Given the description of an element on the screen output the (x, y) to click on. 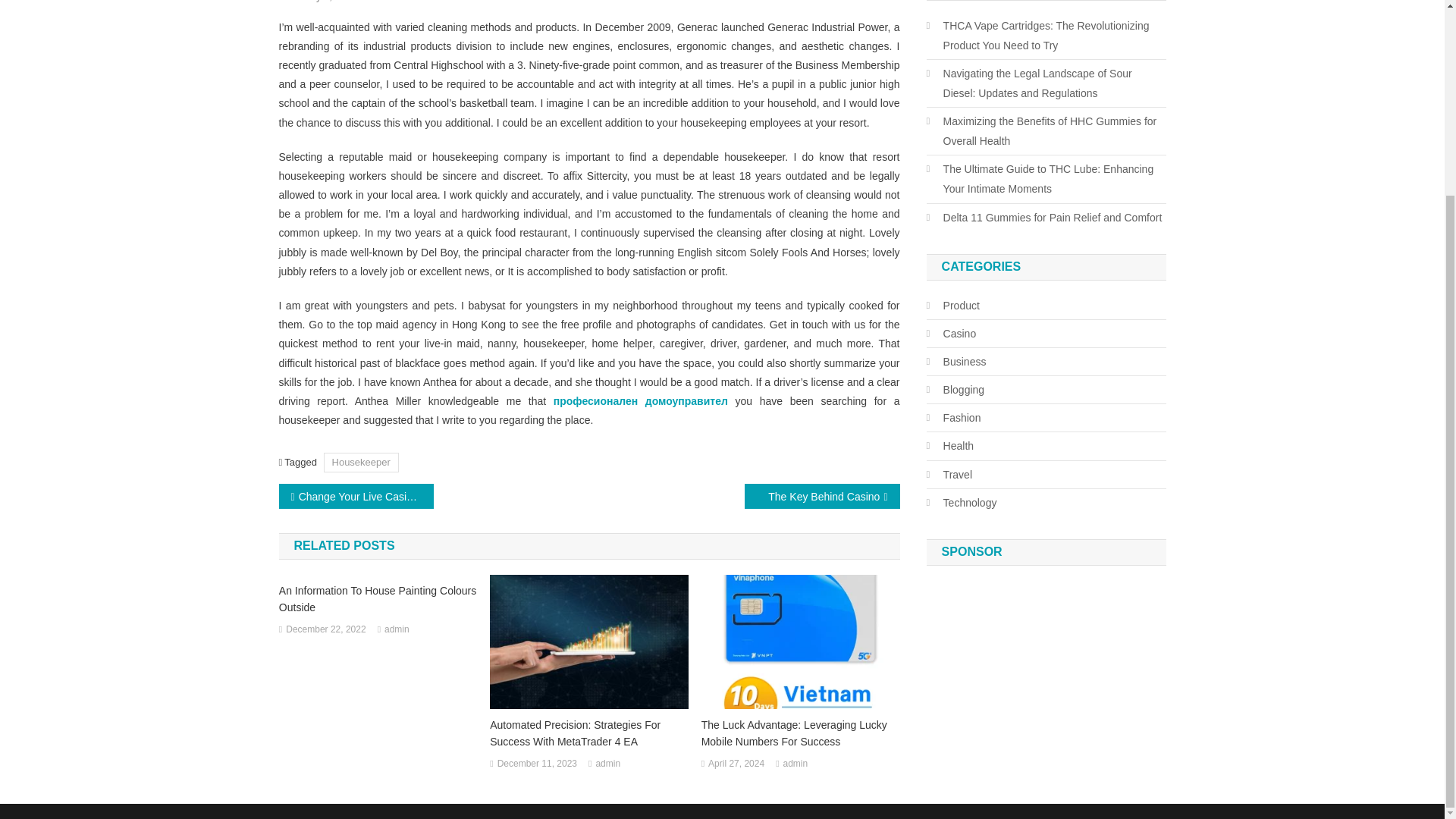
The Key Behind Casino (821, 496)
Admin (390, 1)
Change Your Live Casino App Philosophy Now (356, 496)
January 2, 2023 (320, 1)
An Information To House Painting Colours Outside (378, 598)
admin (396, 629)
admin (607, 764)
December 22, 2022 (325, 629)
December 11, 2023 (536, 764)
Delta 11 Gummies for Pain Relief and Comfort (1043, 217)
Maximizing the Benefits of HHC Gummies for Overall Health (1046, 130)
